Given the description of an element on the screen output the (x, y) to click on. 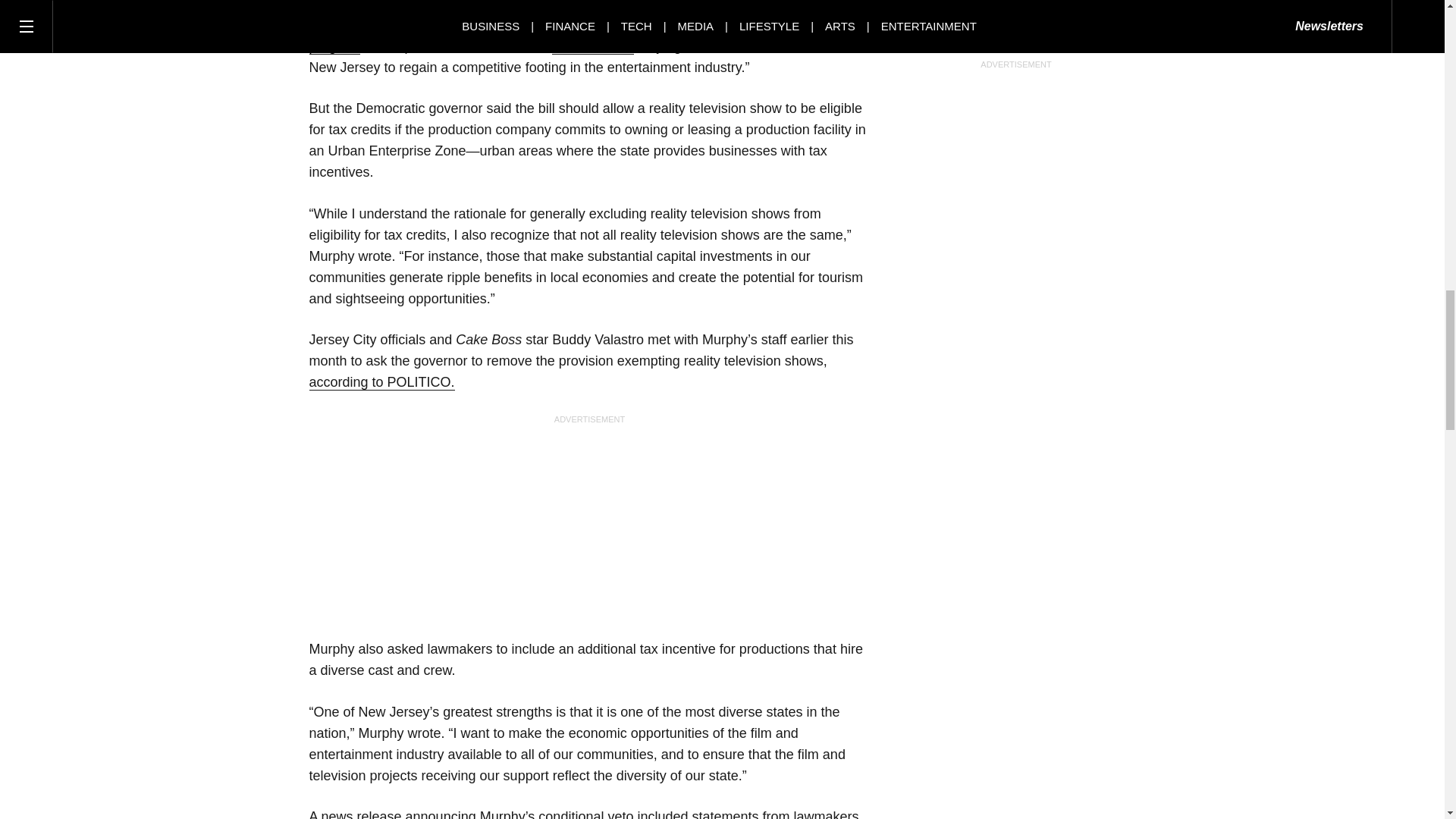
Chris Christie (592, 46)
